Given the description of an element on the screen output the (x, y) to click on. 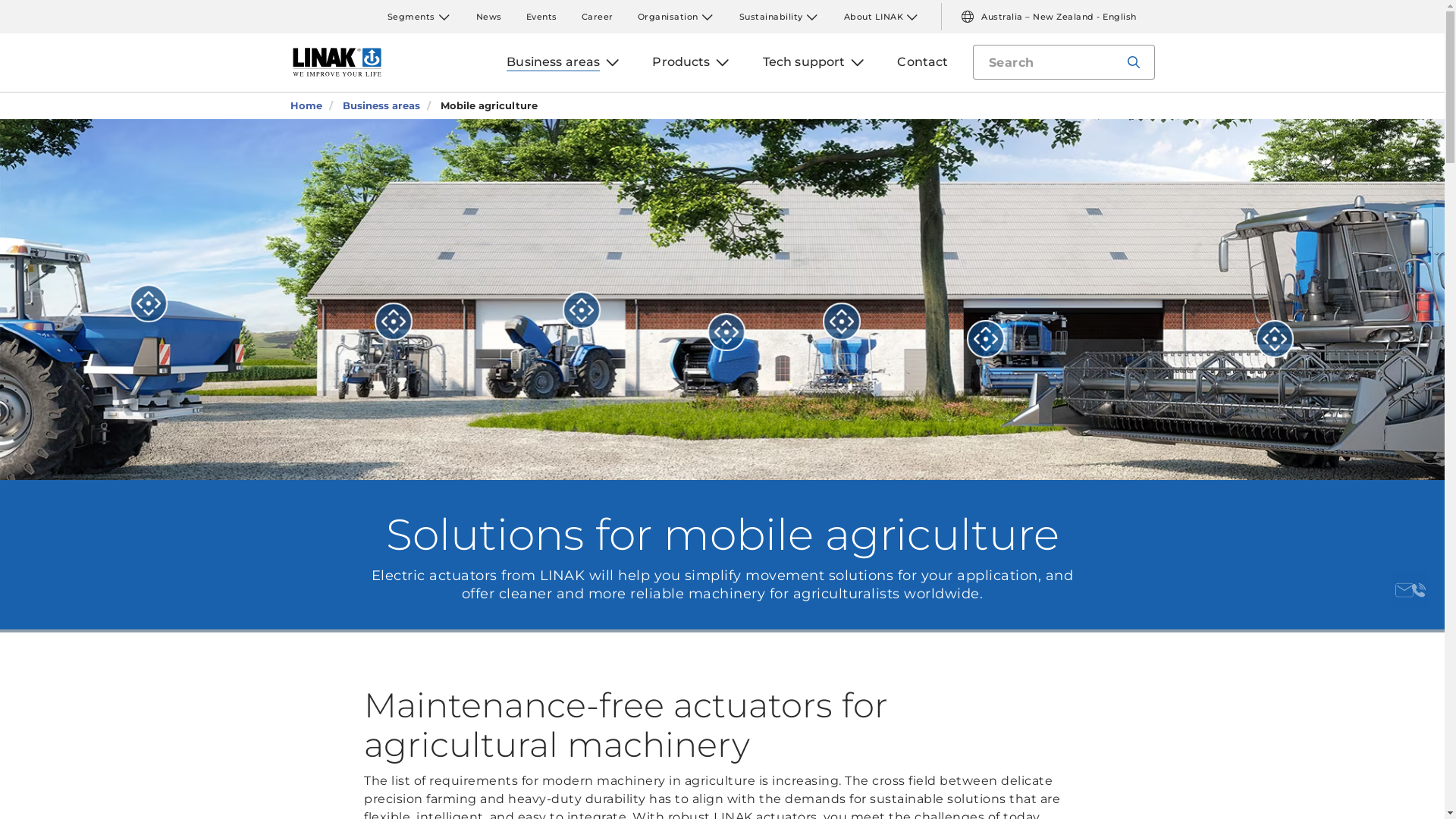
Sustainability Element type: text (770, 15)
Segments Element type: text (410, 15)
Business areas Element type: text (381, 105)
Home Element type: text (305, 105)
Mobile agriculture Element type: text (487, 105)
Products Element type: text (680, 62)
Contact us here Element type: hover (1410, 589)
News Element type: text (489, 15)
Career Element type: text (596, 15)
Contact Element type: text (922, 62)
Business areas Element type: text (552, 62)
About LINAK Element type: text (873, 15)
Organisation Element type: text (667, 15)
Tech support Element type: text (803, 62)
Events Element type: text (541, 15)
Mobile agriculture Element type: text (480, 105)
